Given the description of an element on the screen output the (x, y) to click on. 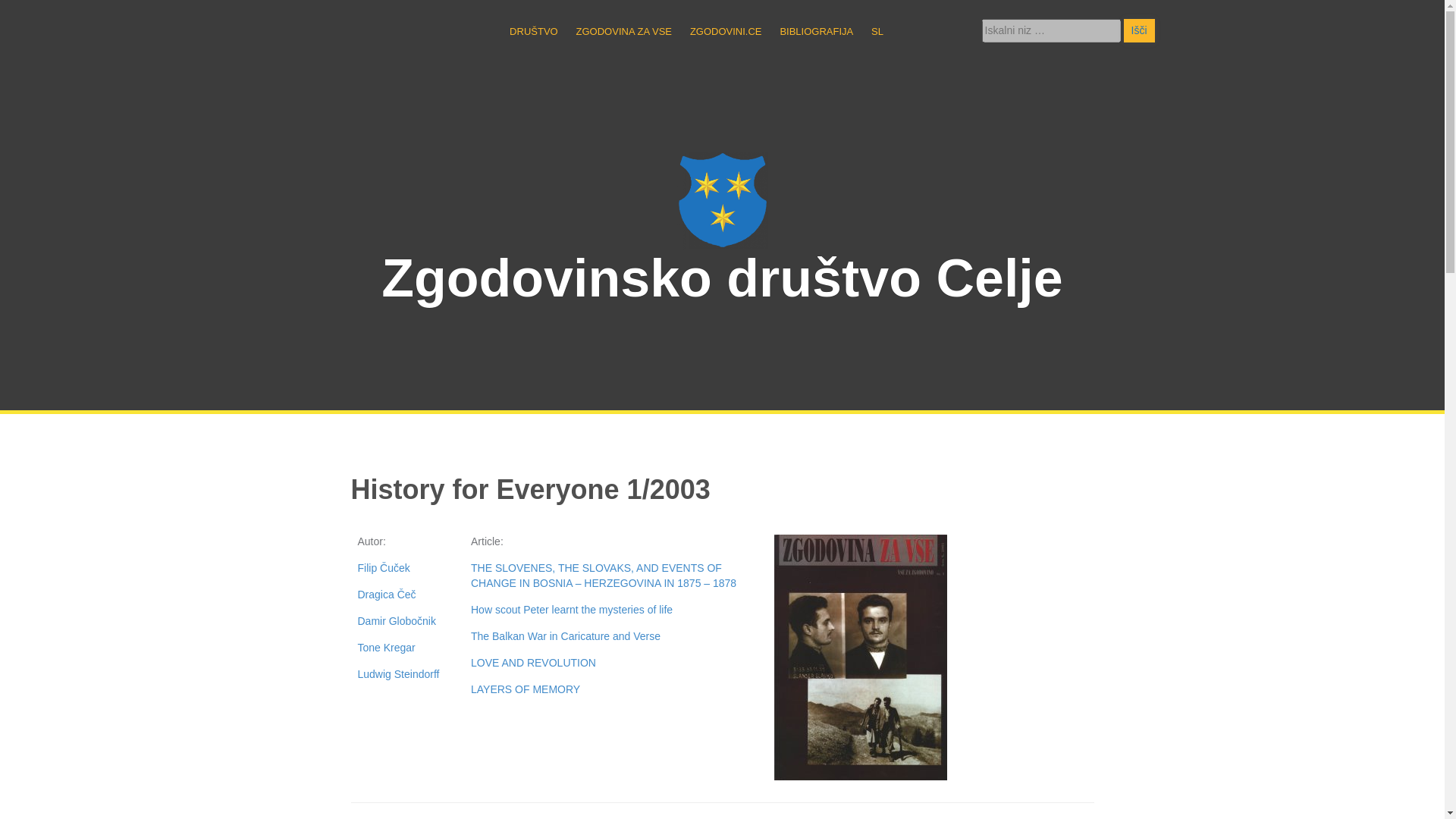
Tone Kregar (386, 647)
How scout Peter learnt the mysteries of life (571, 609)
SL (884, 31)
The Balkan War in Caricature and Verse (565, 635)
LOVE AND REVOLUTION (532, 662)
ZGODOVINI.CE (725, 31)
Ludwig Steindorff (398, 674)
BIBLIOGRAFIJA (815, 31)
ZGODOVINA ZA VSE (623, 31)
LAYERS OF MEMORY (524, 689)
